Given the description of an element on the screen output the (x, y) to click on. 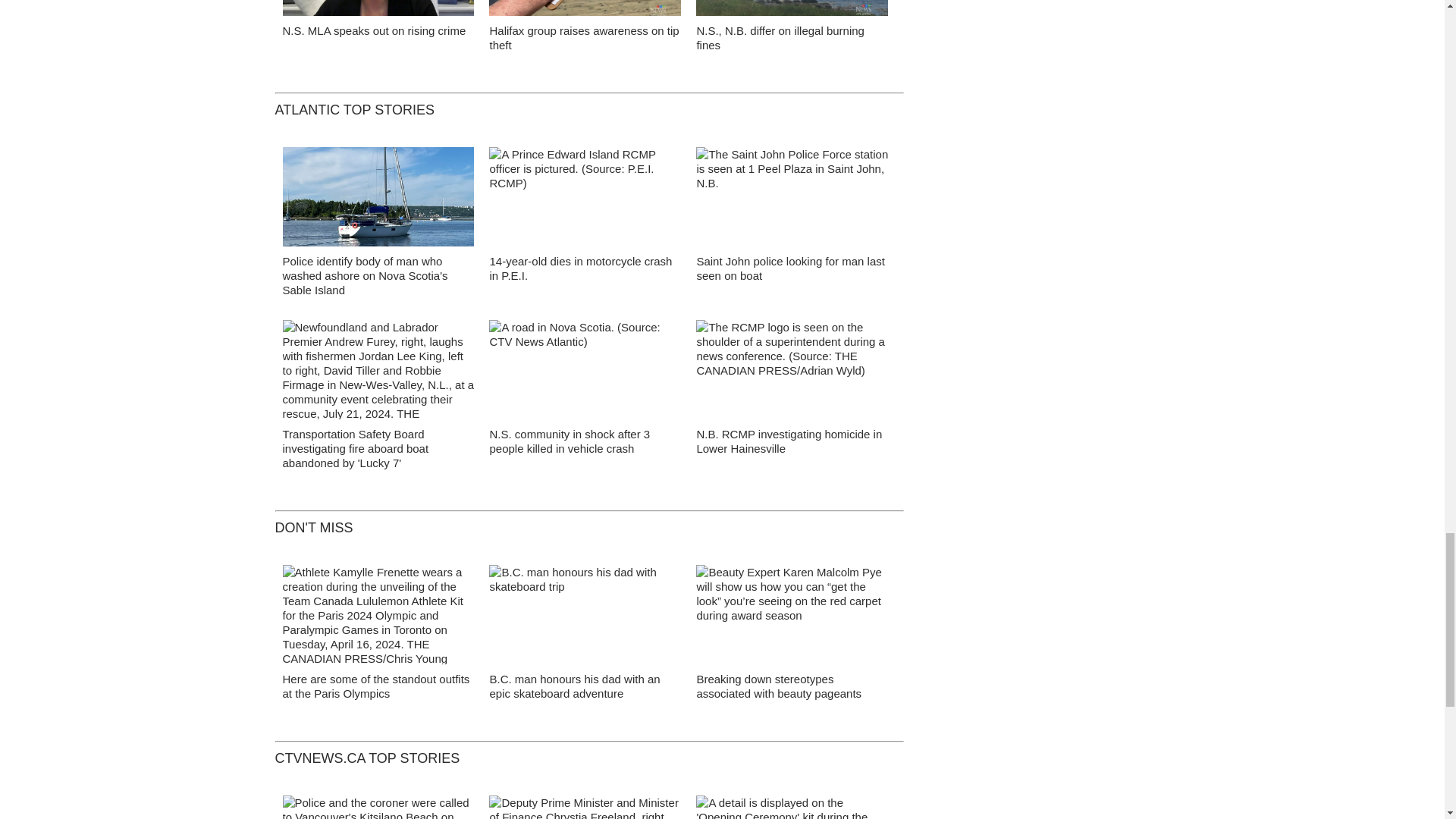
Road (585, 373)
N.S. MLA speaks out on rising crime (378, 12)
Theros (378, 200)
N.S. MLA speaks out on rising crime (373, 30)
N.S., N.B. differ on illegal burning fines (779, 37)
false (585, 7)
RCMP logo (791, 374)
RCMP (585, 200)
14-year-old dies in motorcycle crash in P.E.I. (580, 267)
Halifax group raises awareness on tip theft (583, 37)
Fire (791, 12)
Clipboard (585, 12)
false (791, 7)
Lucky 7 fishing crew (378, 373)
